Given the description of an element on the screen output the (x, y) to click on. 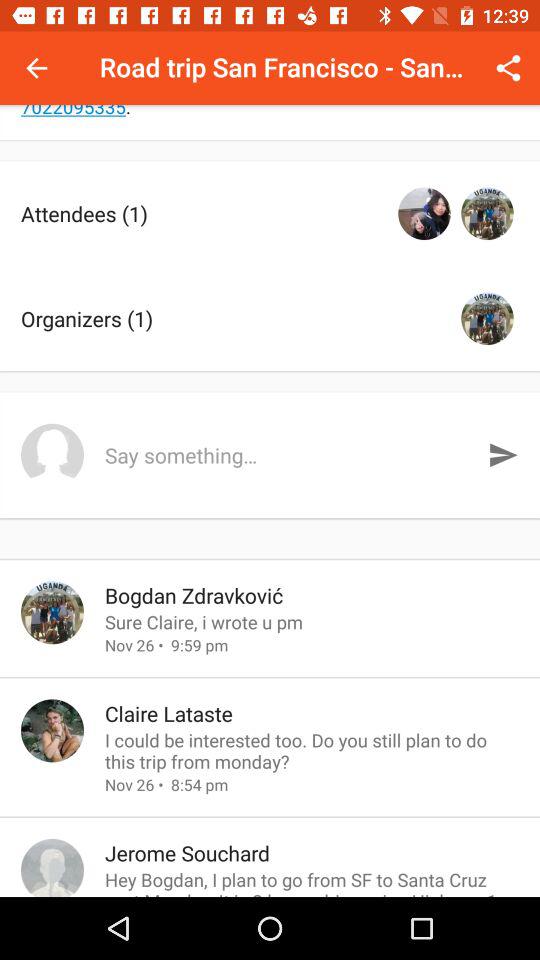
open the item above nov 26 9 (312, 621)
